Given the description of an element on the screen output the (x, y) to click on. 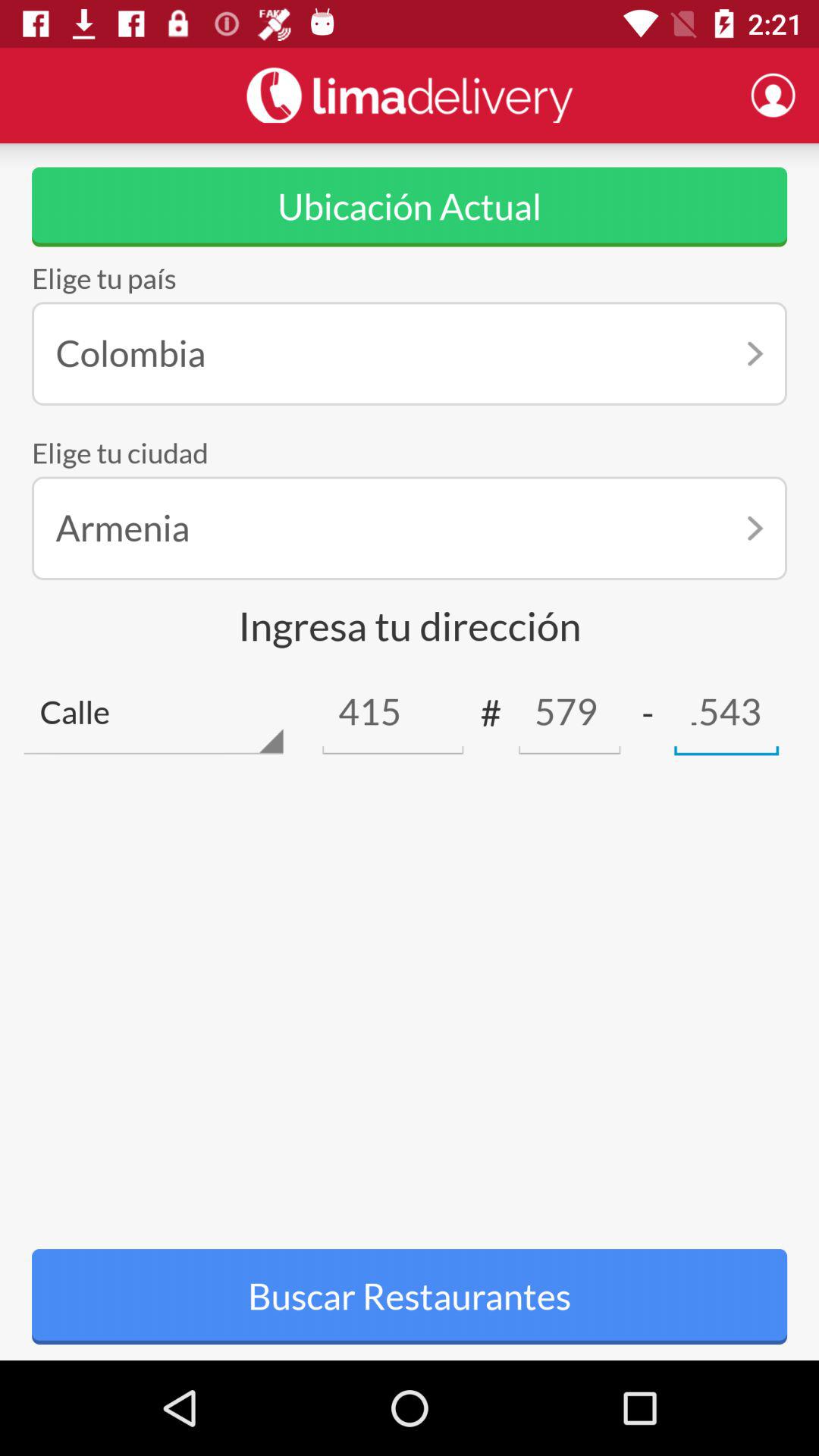
profile button (773, 95)
